Given the description of an element on the screen output the (x, y) to click on. 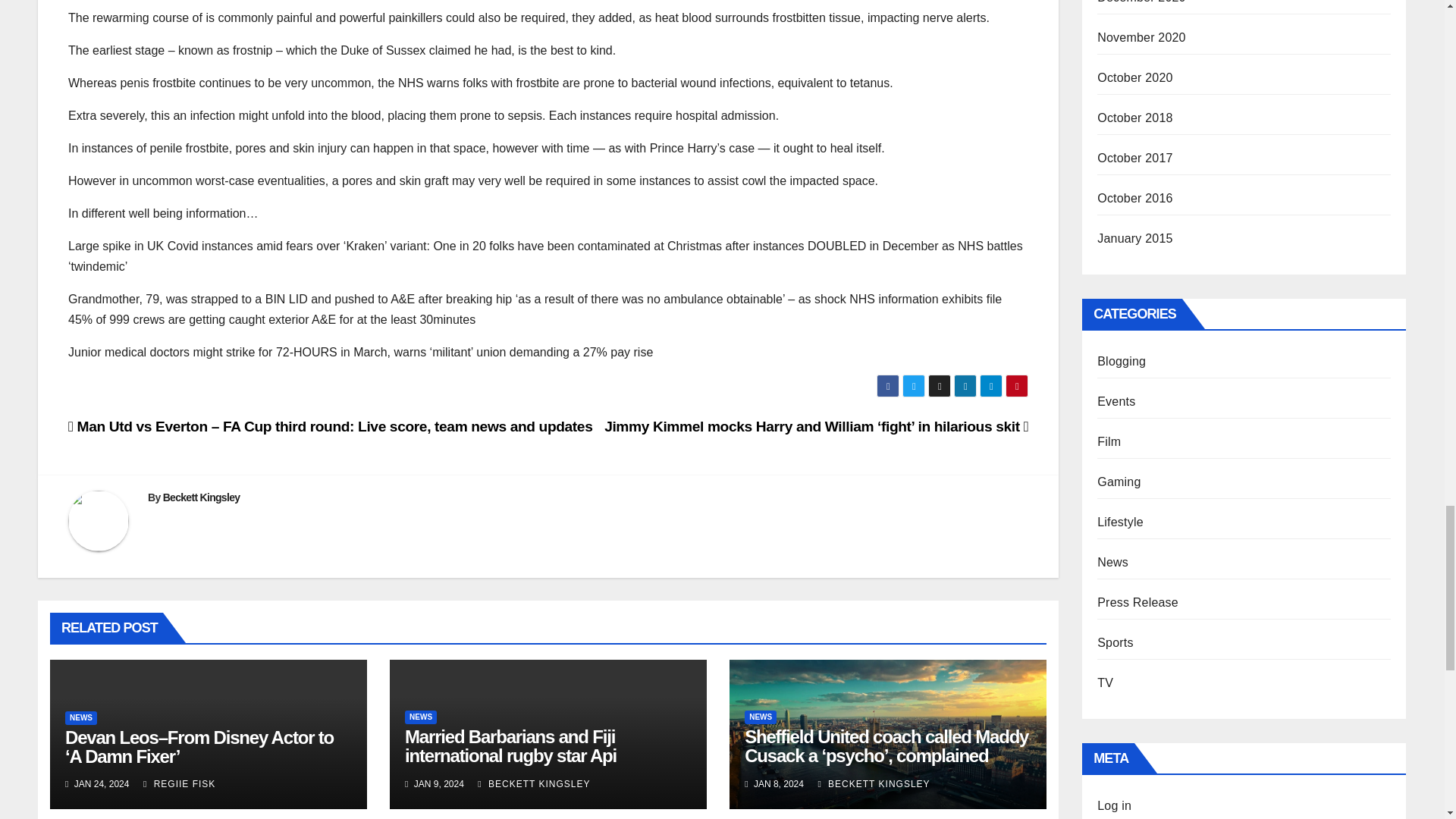
REGIIE FISK (178, 783)
NEWS (420, 716)
BECKETT KINGSLEY (533, 783)
NEWS (81, 717)
NEWS (760, 716)
BECKETT KINGSLEY (873, 783)
Beckett Kingsley (201, 497)
